Given the description of an element on the screen output the (x, y) to click on. 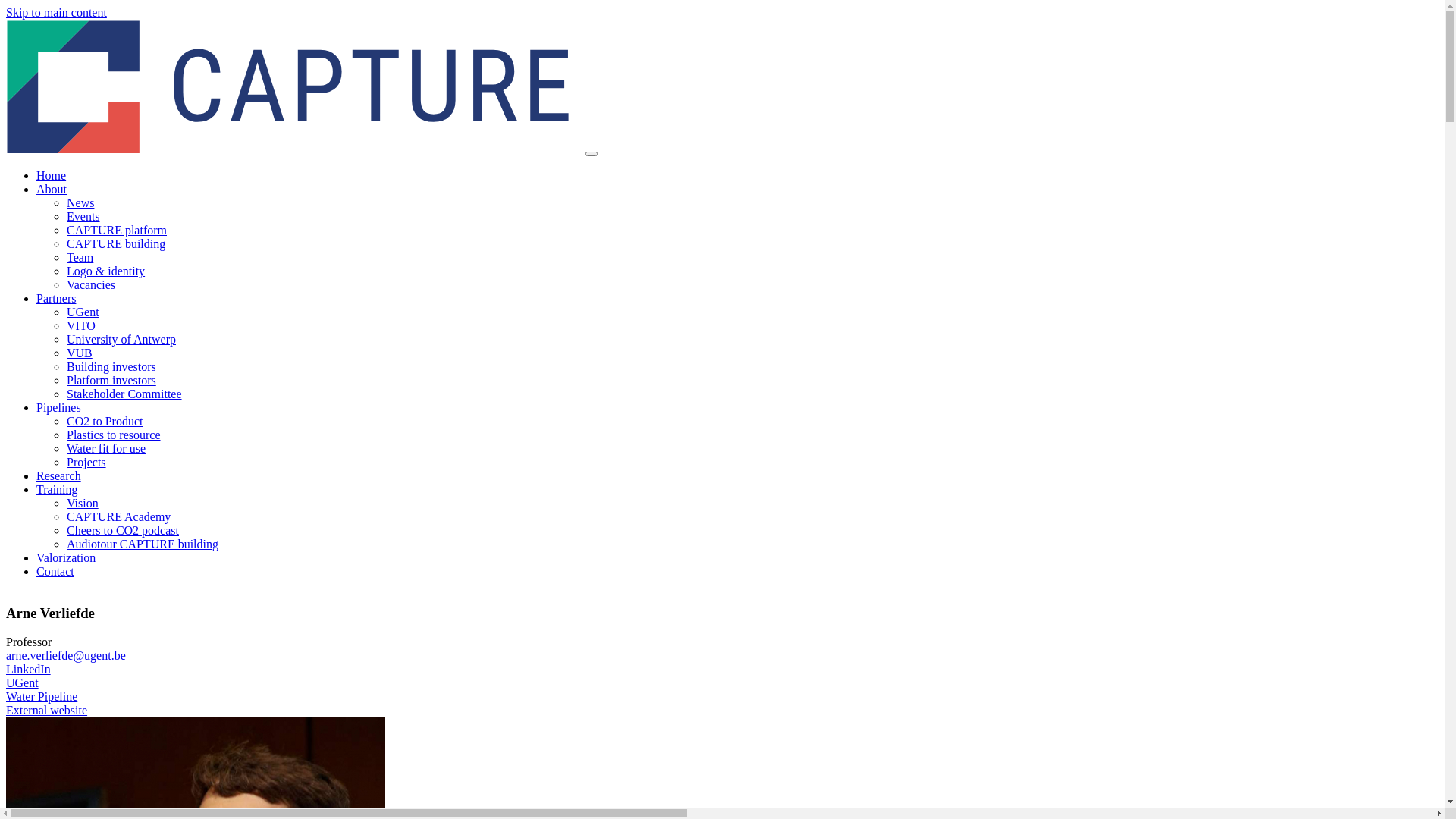
Home Element type: text (50, 175)
Valorization Element type: text (65, 557)
Skip to main content Element type: text (56, 12)
UGent Element type: text (22, 682)
LinkedIn Element type: text (28, 668)
Water fit for use Element type: text (105, 448)
Platform investors Element type: text (111, 379)
Water Pipeline Element type: text (41, 696)
Partners Element type: text (55, 297)
VUB Element type: text (79, 352)
CO2 to Product Element type: text (104, 420)
Stakeholder Committee Element type: text (124, 393)
CAPTURE Academy Element type: text (118, 516)
Vacancies Element type: text (90, 284)
Training Element type: text (57, 489)
University of Antwerp Element type: text (120, 338)
Audiotour CAPTURE building Element type: text (142, 543)
Building investors Element type: text (111, 366)
Plastics to resource Element type: text (113, 434)
CAPTURE platform Element type: text (116, 229)
External website Element type: text (46, 709)
Pipelines Element type: text (58, 407)
Events Element type: text (83, 216)
Vision Element type: text (82, 502)
Logo & identity Element type: text (105, 270)
VITO Element type: text (80, 325)
CAPTURE building Element type: text (115, 243)
Projects Element type: text (86, 461)
UGent Element type: text (82, 311)
Research Element type: text (58, 475)
Team Element type: text (79, 257)
Home Element type: hover (295, 149)
Cheers to CO2 podcast Element type: text (122, 530)
News Element type: text (80, 202)
About Element type: text (51, 188)
Contact Element type: text (55, 570)
arne.verliefde@ugent.be Element type: text (65, 655)
